Given the description of an element on the screen output the (x, y) to click on. 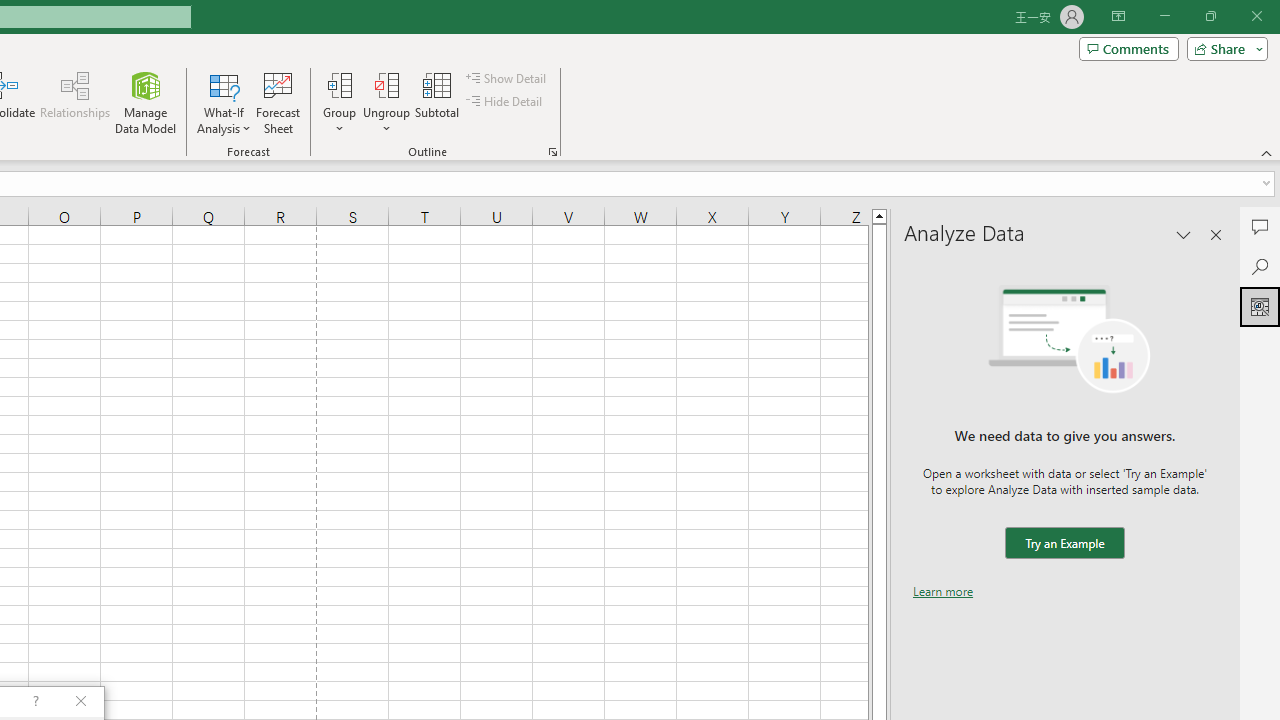
We need data to give you answers. Try an Example (1064, 543)
Collapse the Ribbon (1267, 152)
More Options (386, 121)
Forecast Sheet (278, 102)
Minimize (1164, 16)
Learn more (943, 591)
Group and Outline Settings (552, 151)
Ungroup... (386, 102)
Group... (339, 102)
What-If Analysis (223, 102)
Task Pane Options (1183, 234)
Relationships (75, 102)
Subtotal (437, 102)
Hide Detail (505, 101)
